Given the description of an element on the screen output the (x, y) to click on. 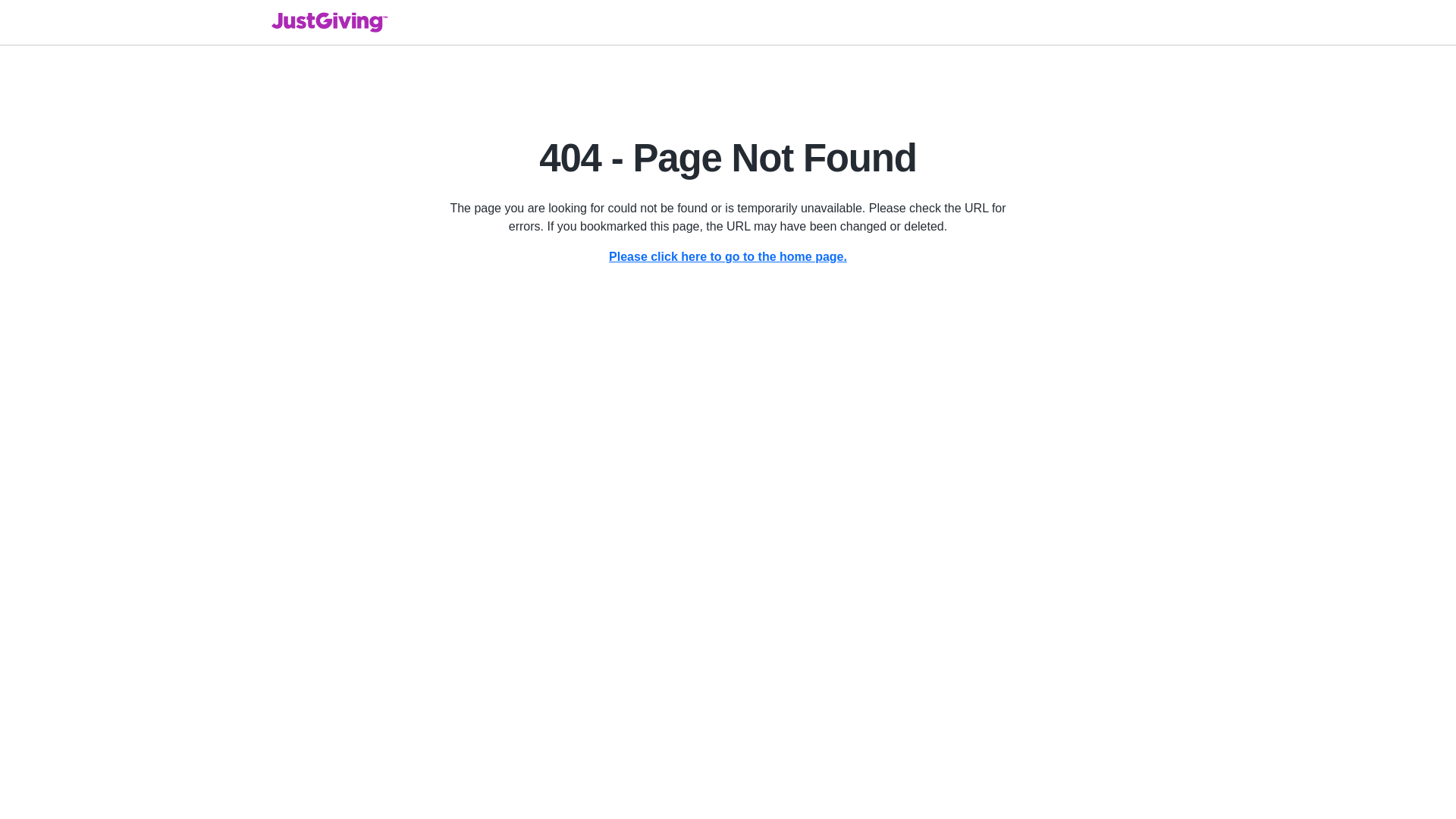
Please click here to go to the home page. Element type: text (727, 256)
